Given the description of an element on the screen output the (x, y) to click on. 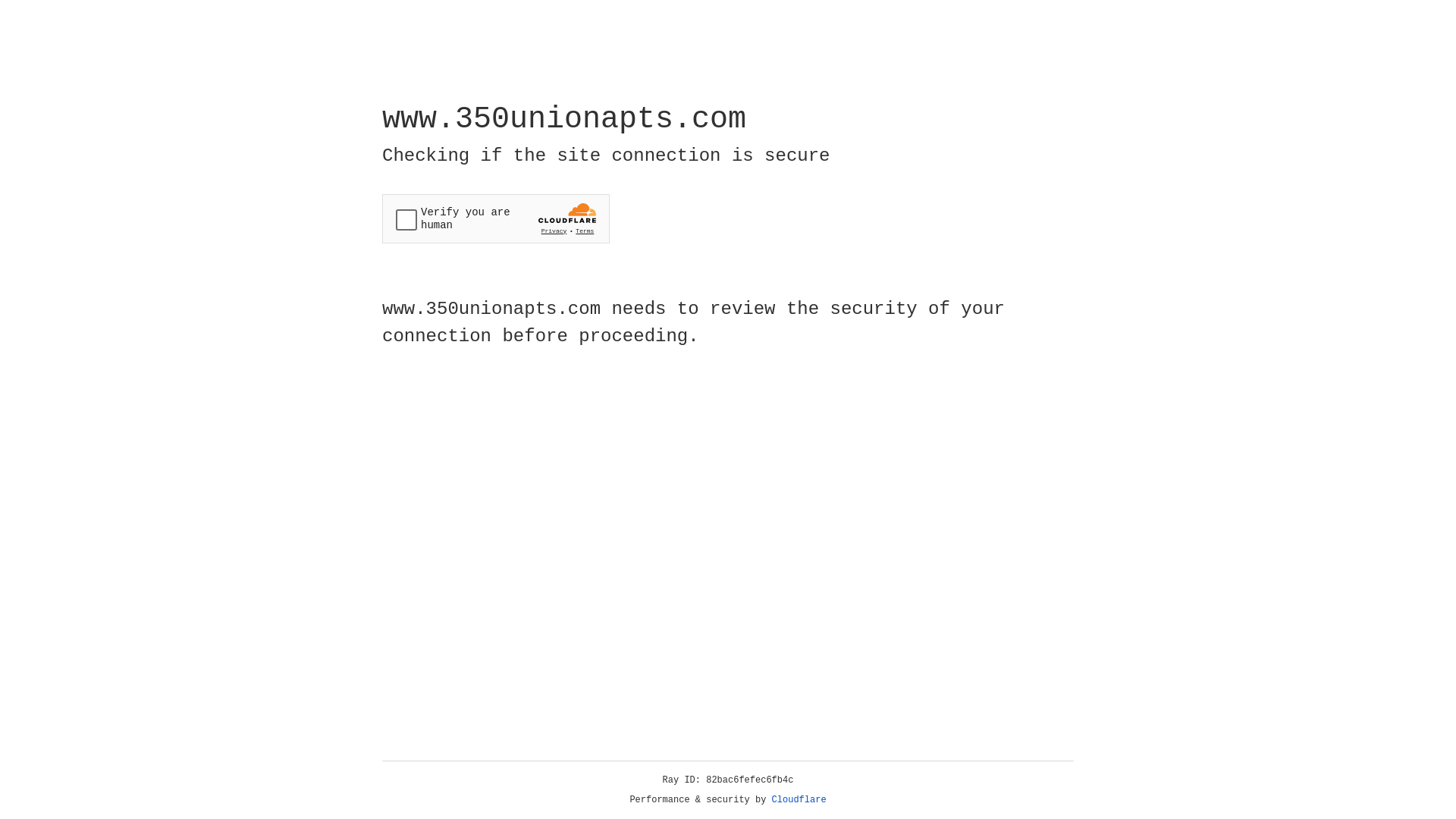
Widget containing a Cloudflare security challenge Element type: hover (495, 218)
Cloudflare Element type: text (798, 799)
